Given the description of an element on the screen output the (x, y) to click on. 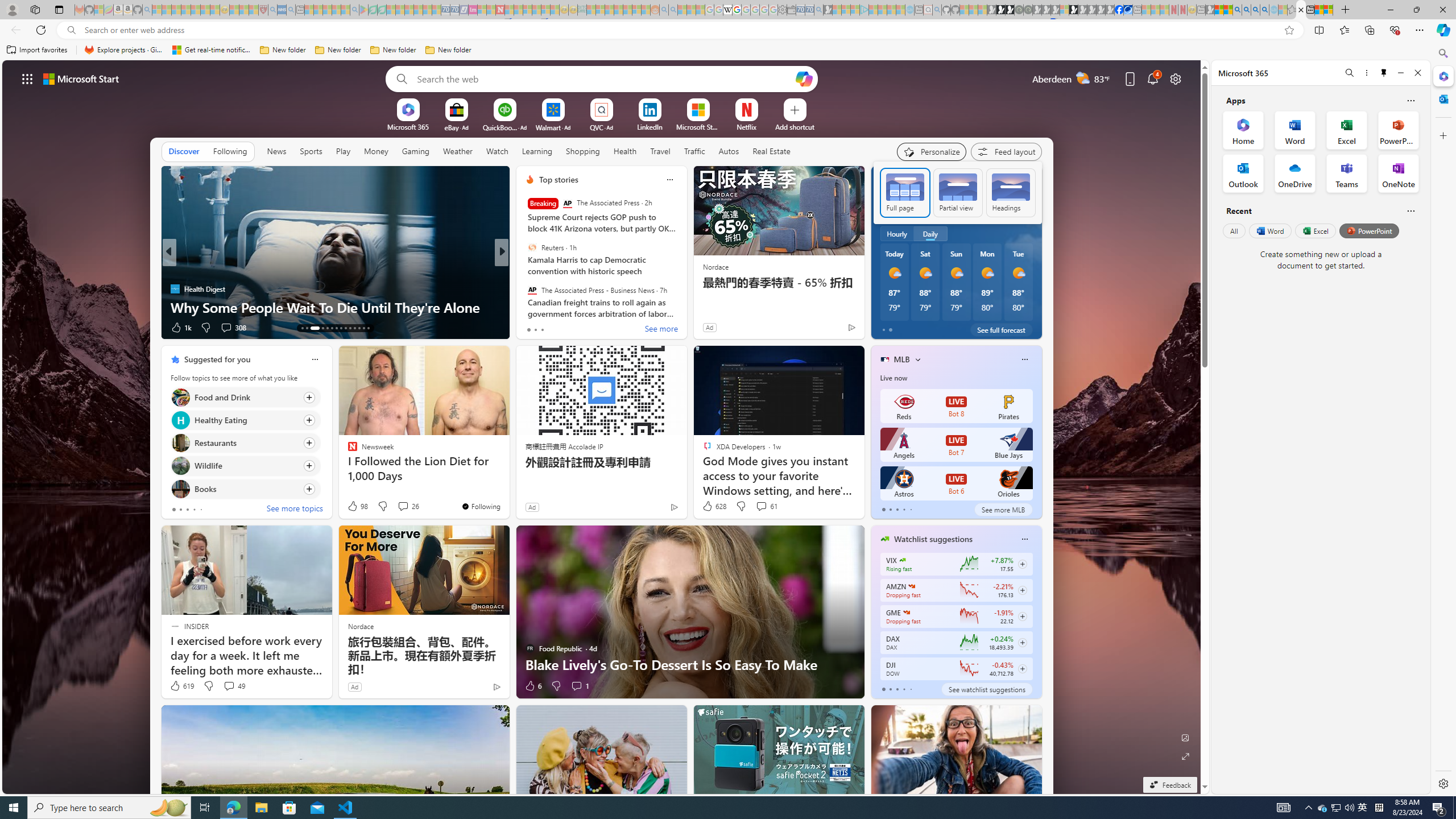
Sports (310, 151)
2k Like (530, 327)
AutomationID: backgroundImagePicture (601, 426)
Import favorites (36, 49)
AutomationID: tab-15 (314, 328)
Play Zoo Boom in your browser | Games from Microsoft Start (1000, 9)
AutomationID: tab-22 (349, 328)
Kinda Frugal - MSN - Sleeping (627, 9)
The Associated Press - Business News (532, 289)
View comments 49 Comment (233, 685)
